Given the description of an element on the screen output the (x, y) to click on. 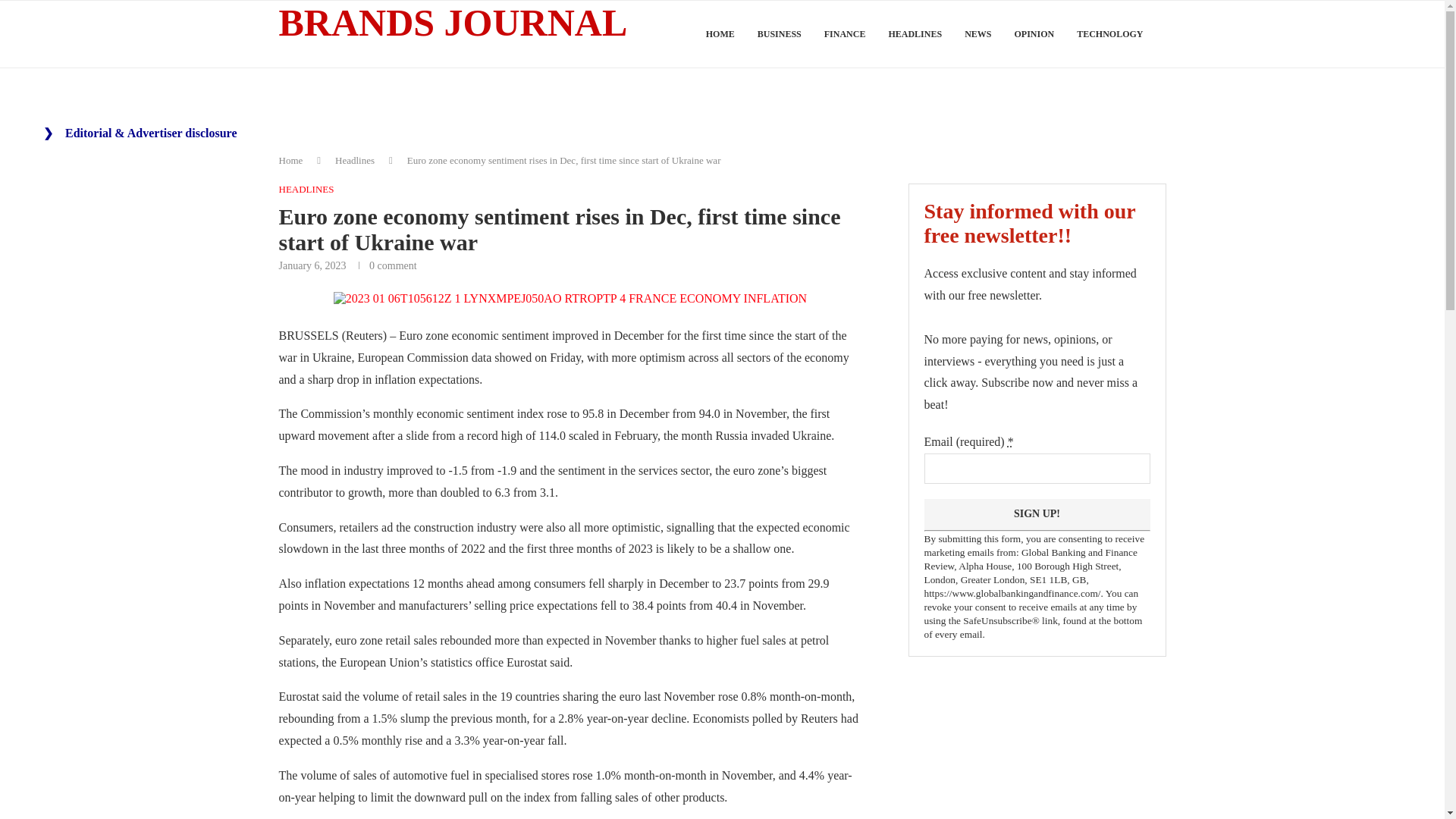
Sign up! (1036, 513)
Headlines (354, 160)
BRANDS JOURNAL (453, 22)
Sign up! (1036, 513)
HEADLINES (306, 189)
Home (290, 160)
TECHNOLOGY (1109, 33)
